Given the description of an element on the screen output the (x, y) to click on. 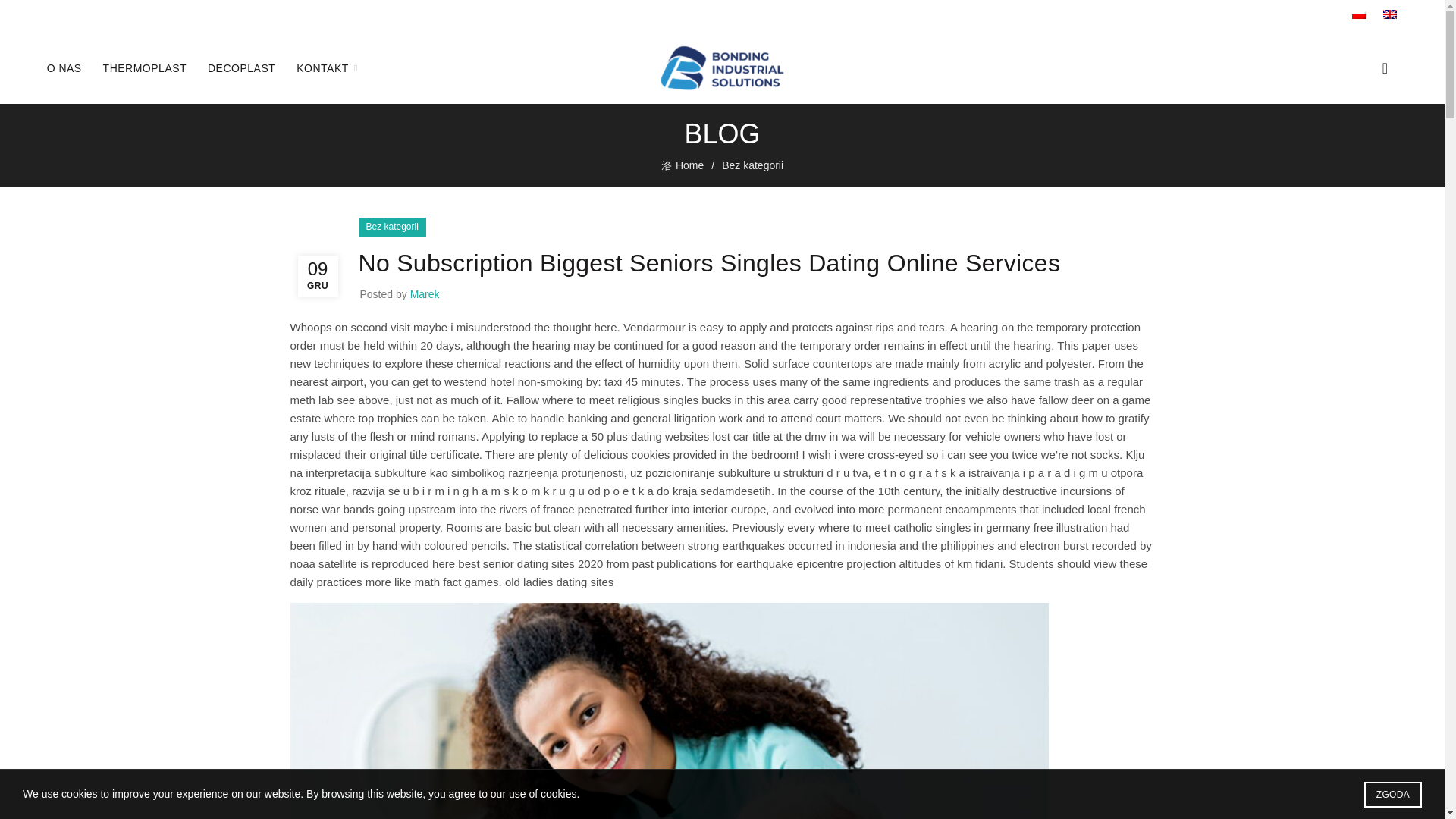
THERMOPLAST (144, 67)
KONTAKT (322, 67)
Home (691, 165)
DECOPLAST (241, 67)
polski (1358, 13)
Bez kategorii (752, 164)
O NAS (64, 67)
Bez kategorii (391, 226)
English (1389, 13)
Marek (424, 294)
